Given the description of an element on the screen output the (x, y) to click on. 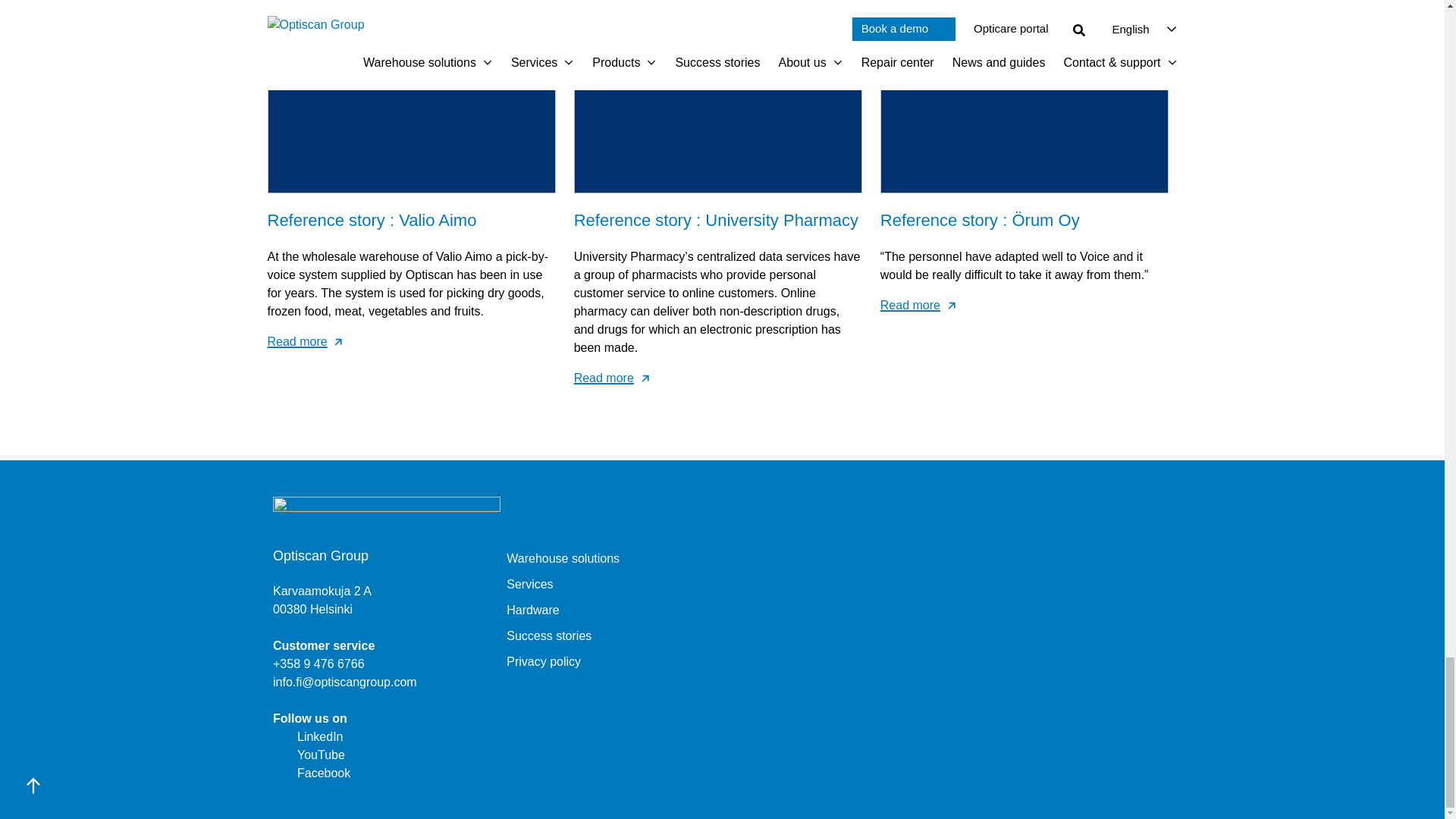
All articles in the category Voice (913, 35)
Read more (410, 341)
All articles in the category Voice (300, 35)
Read more (1024, 305)
All articles in the category Voice (607, 35)
Read more (717, 378)
